Given the description of an element on the screen output the (x, y) to click on. 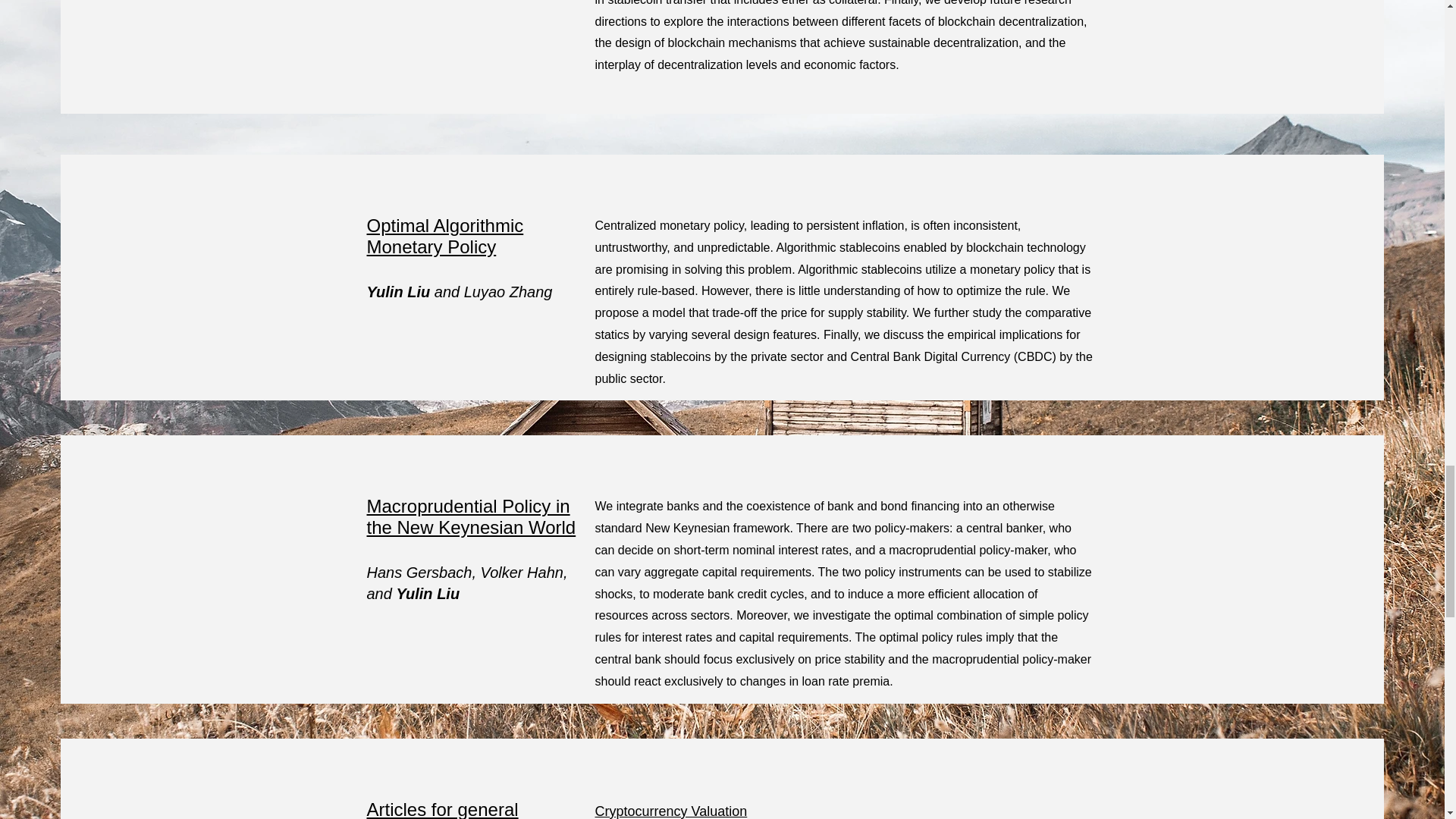
Articles for general audience (442, 809)
Optimal Algorithmic Monetary Policy (445, 236)
Cryptocurrency Valuation (670, 811)
Macroprudential Policy in the New Keynesian World (471, 516)
